Given the description of an element on the screen output the (x, y) to click on. 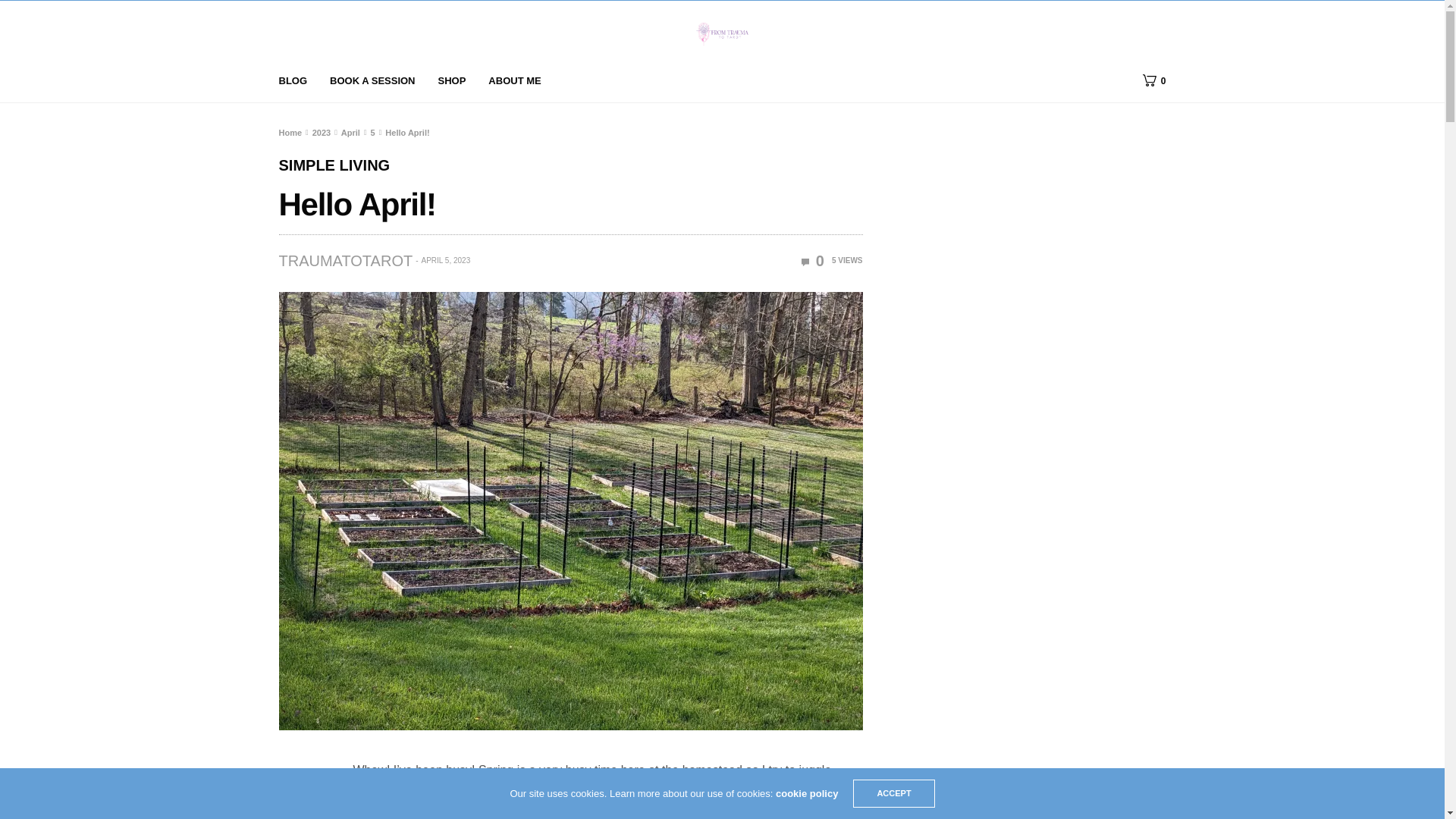
SIMPLE LIVING (334, 165)
April (349, 132)
YouTube (448, 789)
SHOP (451, 81)
Posts by TraumaToTarot (346, 260)
BOOK A SESSION (372, 81)
TRAUMATOTAROT (346, 260)
2023 (321, 132)
Hello April! (813, 260)
0 (813, 260)
BLOG (293, 81)
ABOUT ME (513, 81)
Home (290, 132)
Simple Living (334, 165)
